Given the description of an element on the screen output the (x, y) to click on. 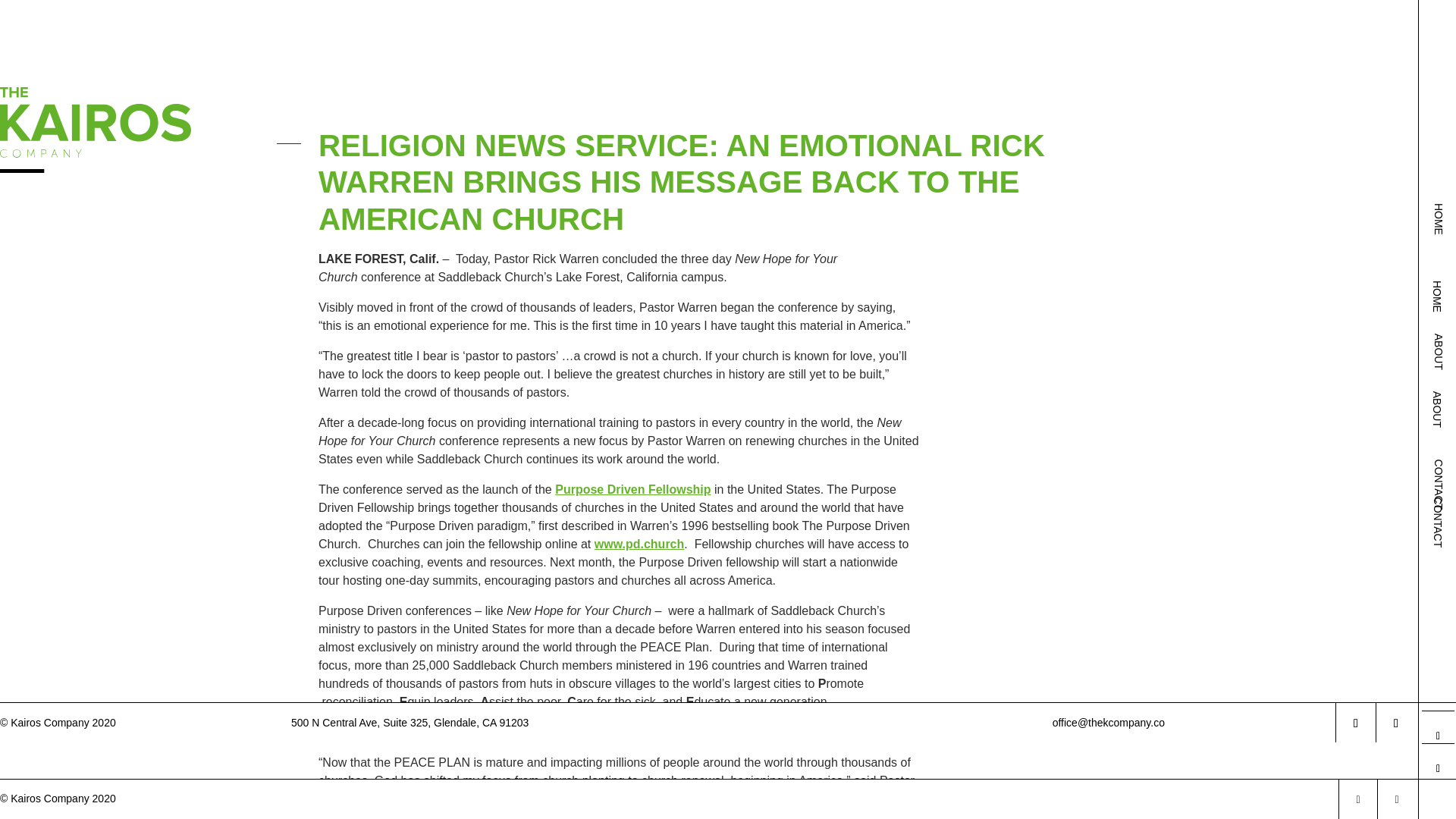
Purpose Driven Fellowship (632, 489)
www.pd.church (639, 543)
imageb (95, 53)
